Given the description of an element on the screen output the (x, y) to click on. 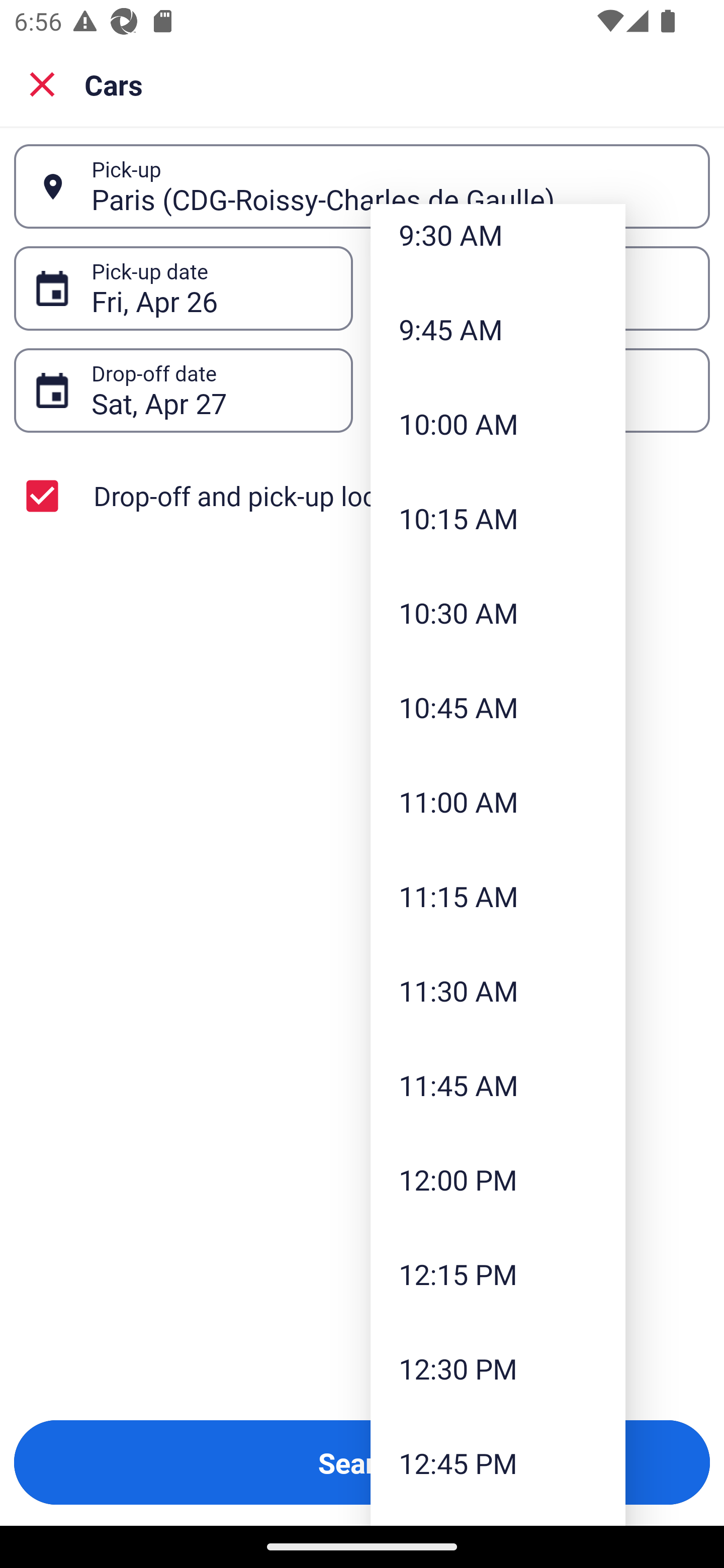
9:30 AM (497, 242)
9:45 AM (497, 329)
10:00 AM (497, 423)
10:15 AM (497, 518)
10:30 AM (497, 613)
10:45 AM (497, 707)
11:00 AM (497, 801)
11:15 AM (497, 895)
11:30 AM (497, 990)
11:45 AM (497, 1085)
12:00 PM (497, 1179)
12:15 PM (497, 1273)
12:30 PM (497, 1368)
12:45 PM (497, 1462)
